Given the description of an element on the screen output the (x, y) to click on. 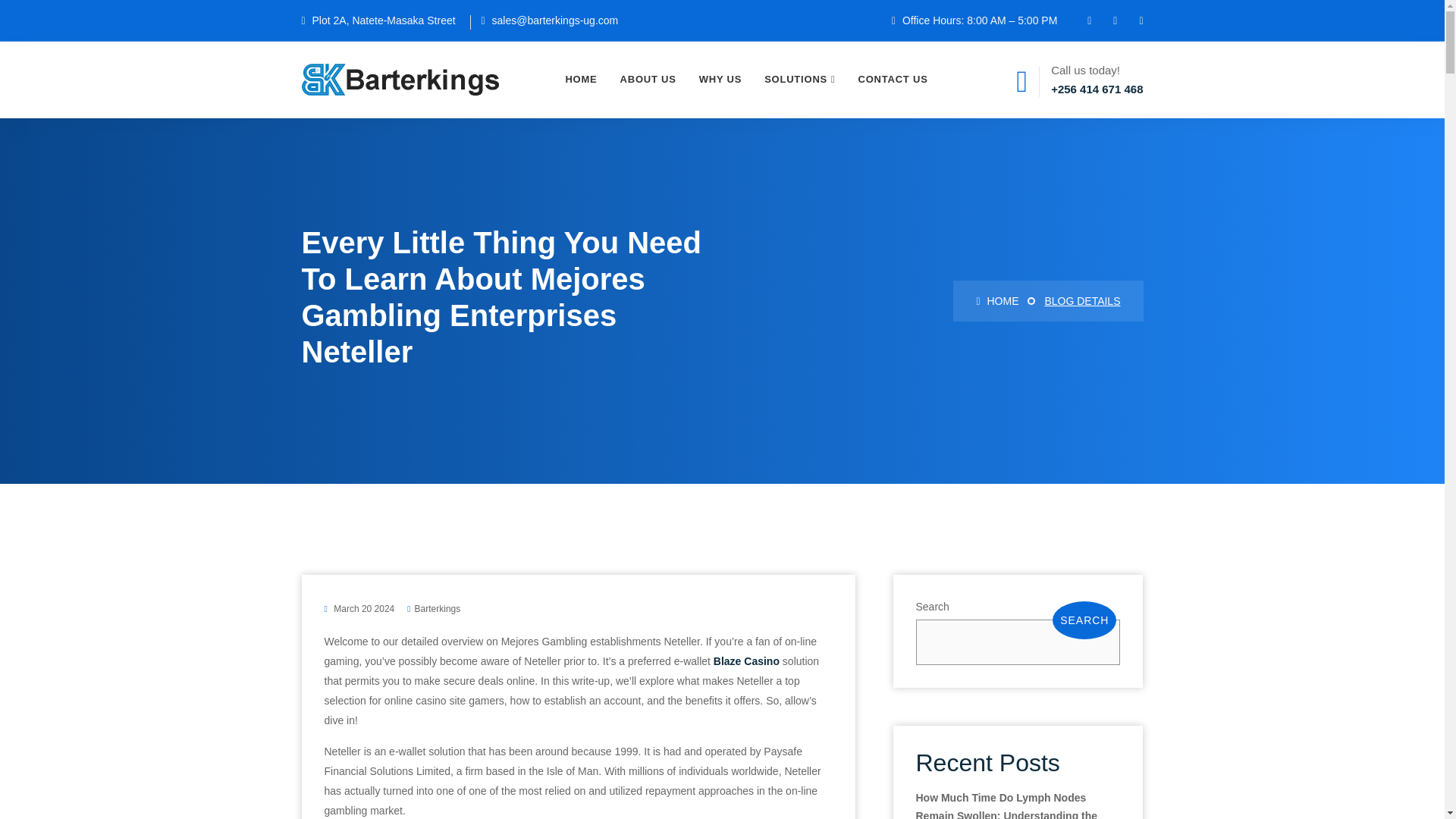
About Us (647, 79)
Blaze Casino (745, 661)
ABOUT US (647, 79)
SEARCH (1084, 620)
Barterkings (437, 608)
Solutions (798, 79)
SOLUTIONS (798, 79)
Contact Us (893, 79)
CONTACT US (893, 79)
HOME (996, 300)
